Given the description of an element on the screen output the (x, y) to click on. 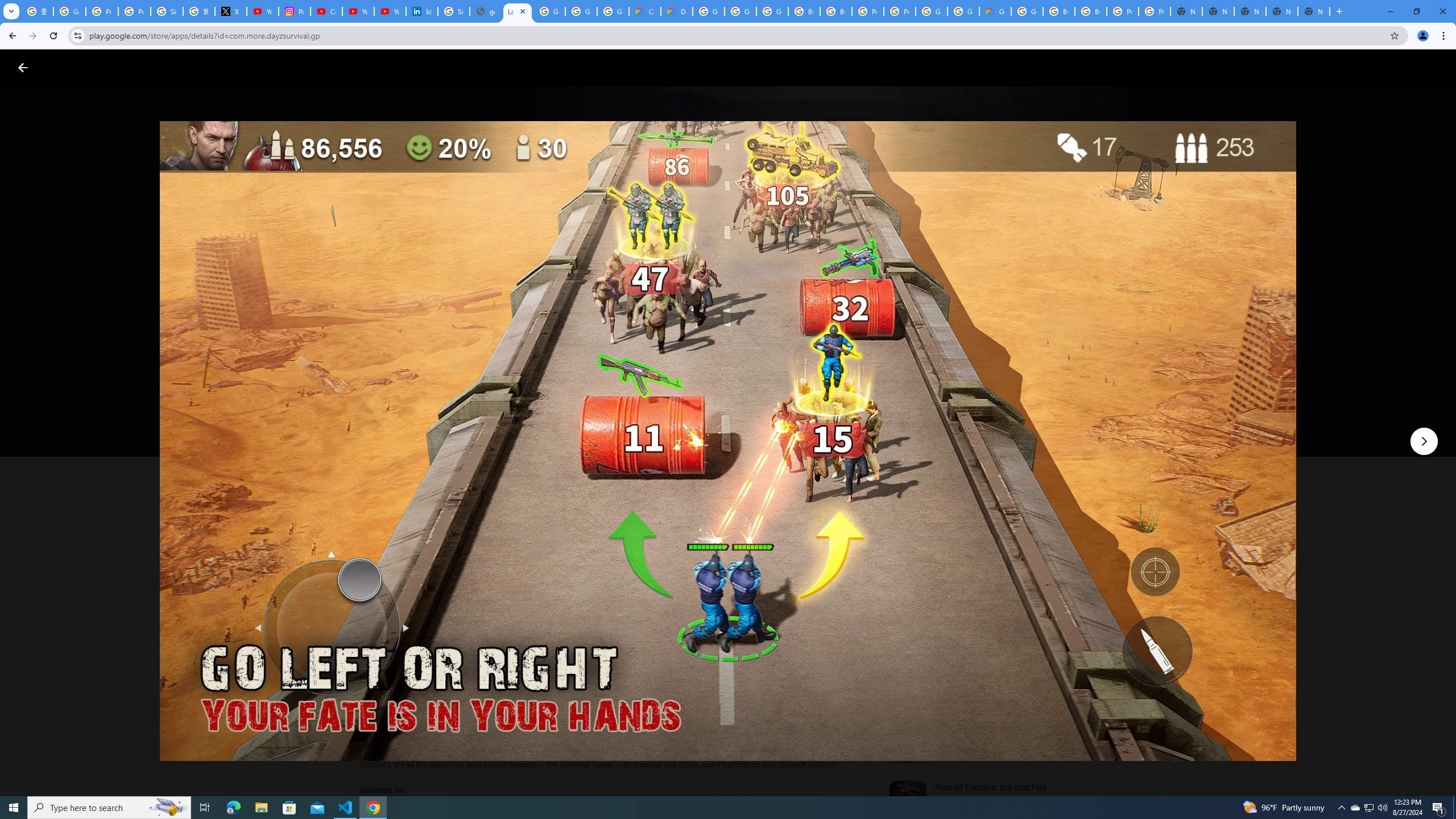
More info about this content rating (575, 385)
